Given the description of an element on the screen output the (x, y) to click on. 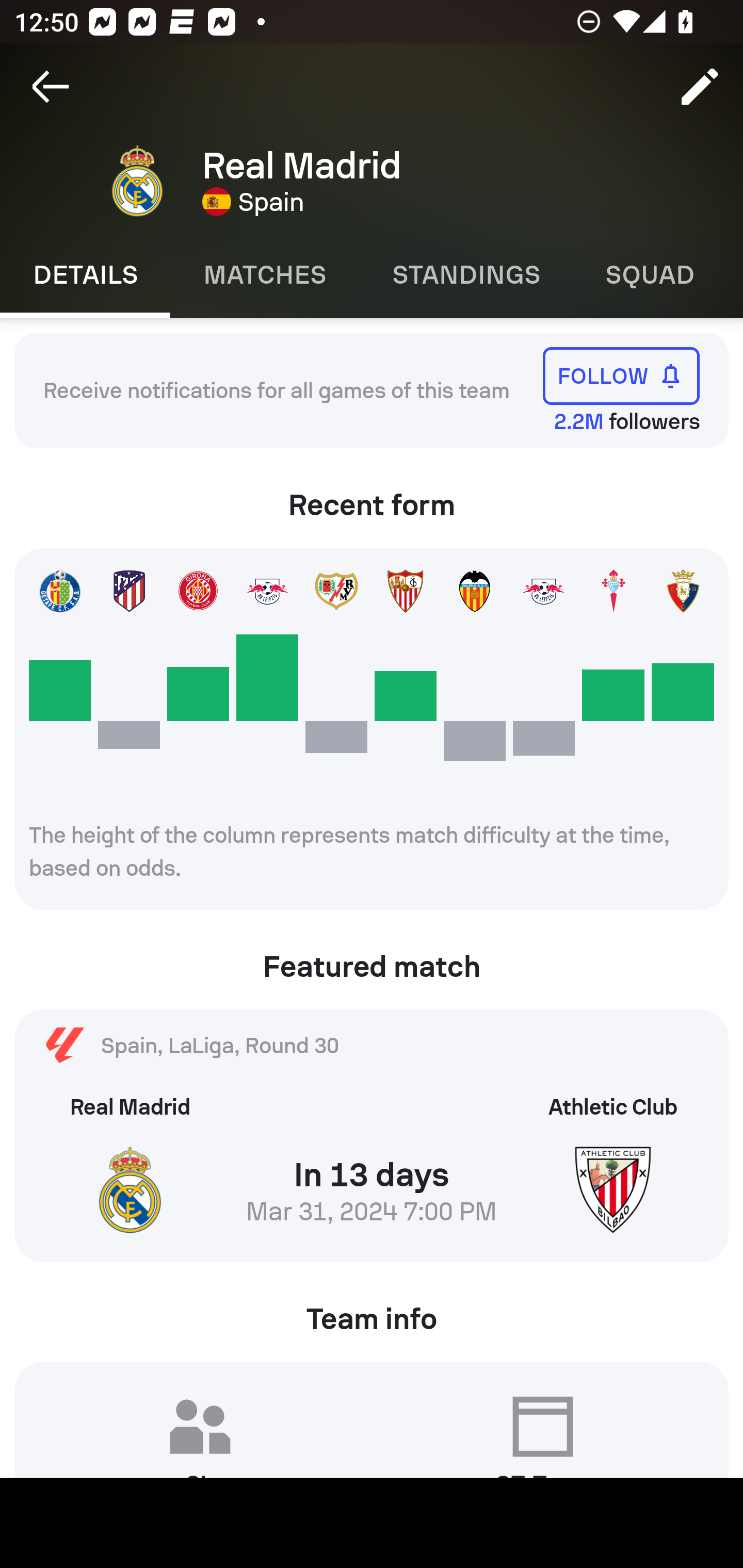
Navigate up (50, 86)
Edit (699, 86)
Matches MATCHES (264, 275)
Standings STANDINGS (465, 275)
Squad SQUAD (650, 275)
FOLLOW (621, 375)
